Given the description of an element on the screen output the (x, y) to click on. 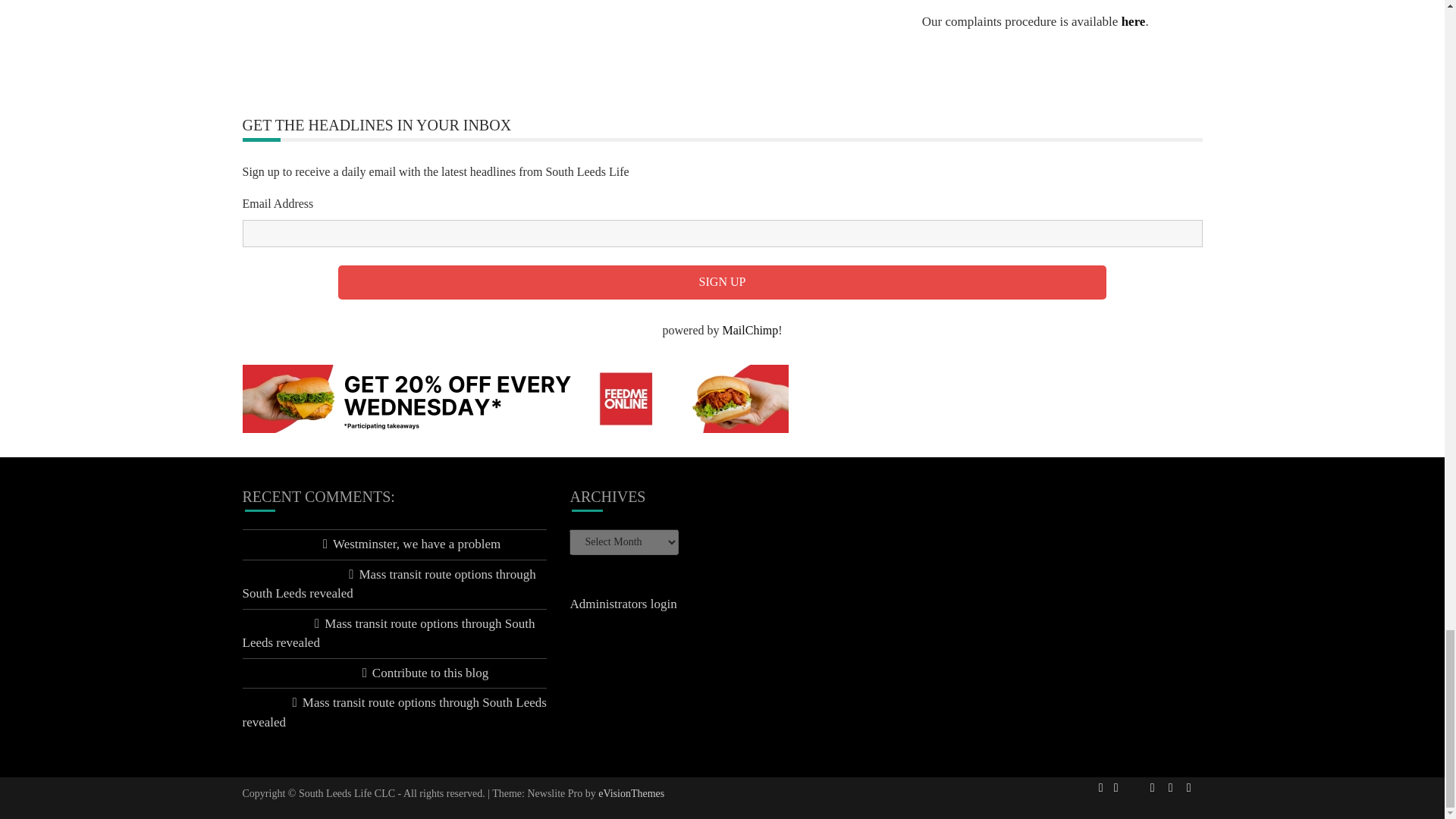
Sign up (721, 282)
